Given the description of an element on the screen output the (x, y) to click on. 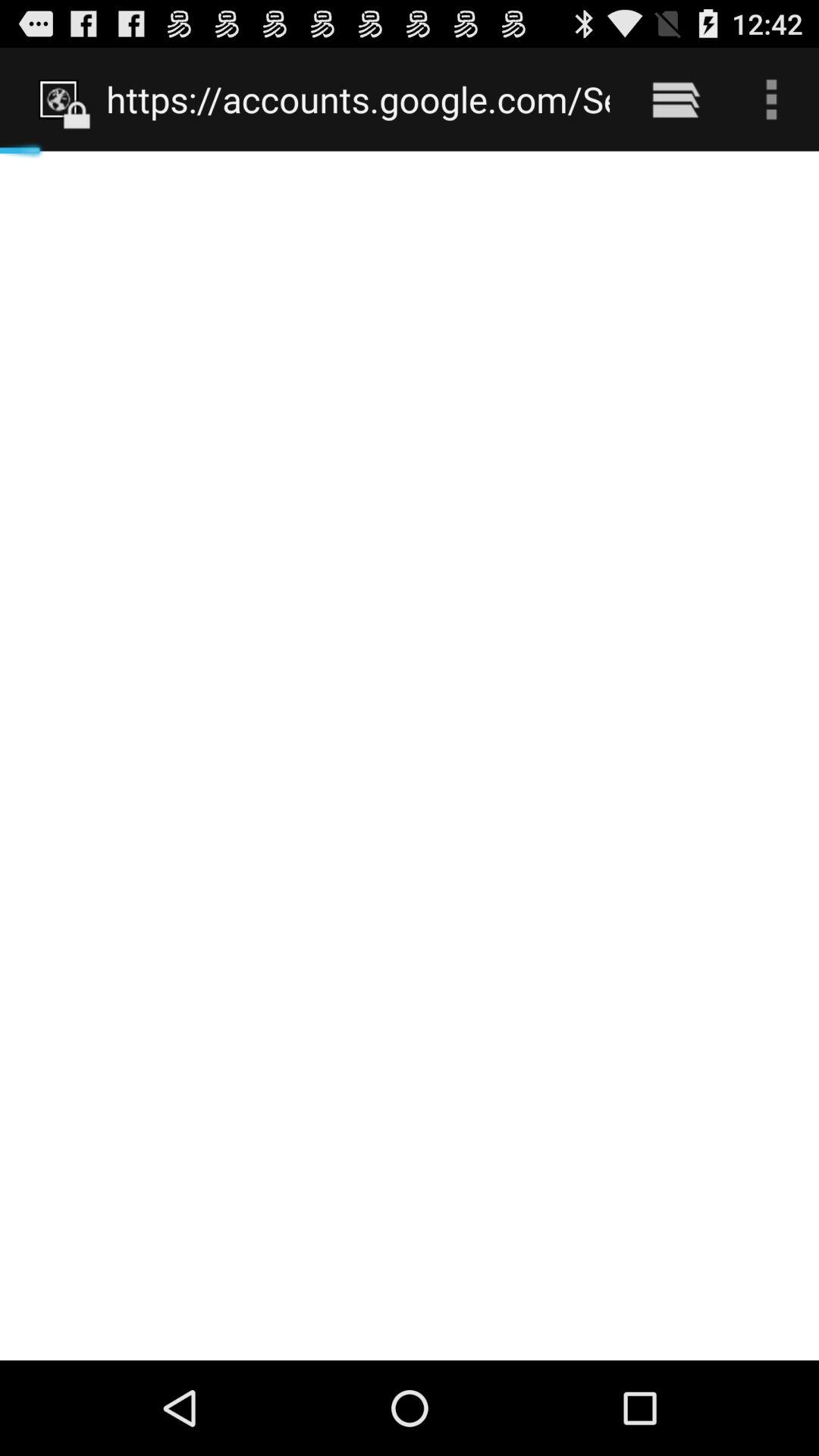
select item at the center (409, 755)
